Given the description of an element on the screen output the (x, y) to click on. 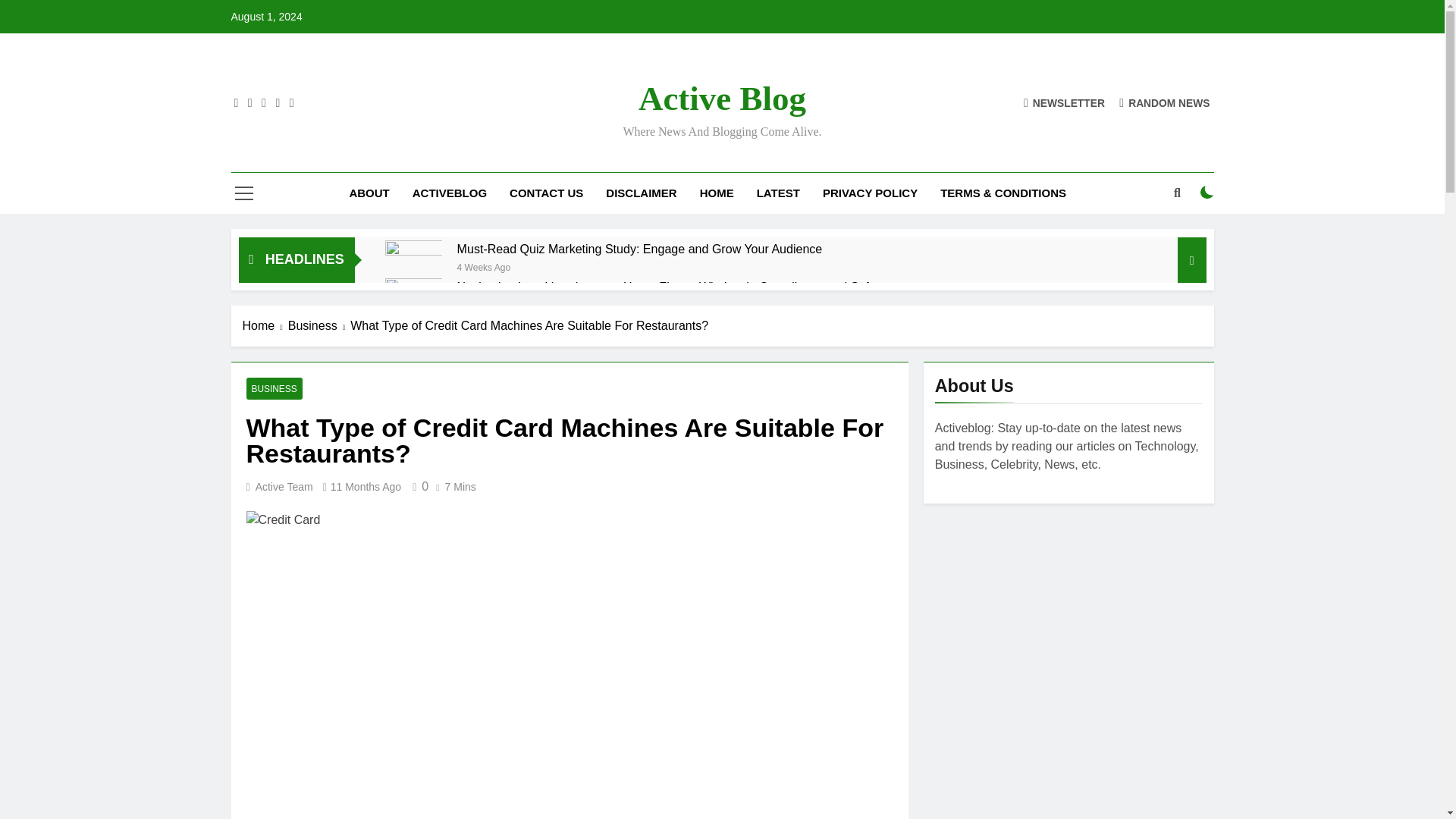
NEWSLETTER (1064, 101)
RANDOM NEWS (1164, 101)
Active Blog (722, 98)
on (1206, 192)
